Given the description of an element on the screen output the (x, y) to click on. 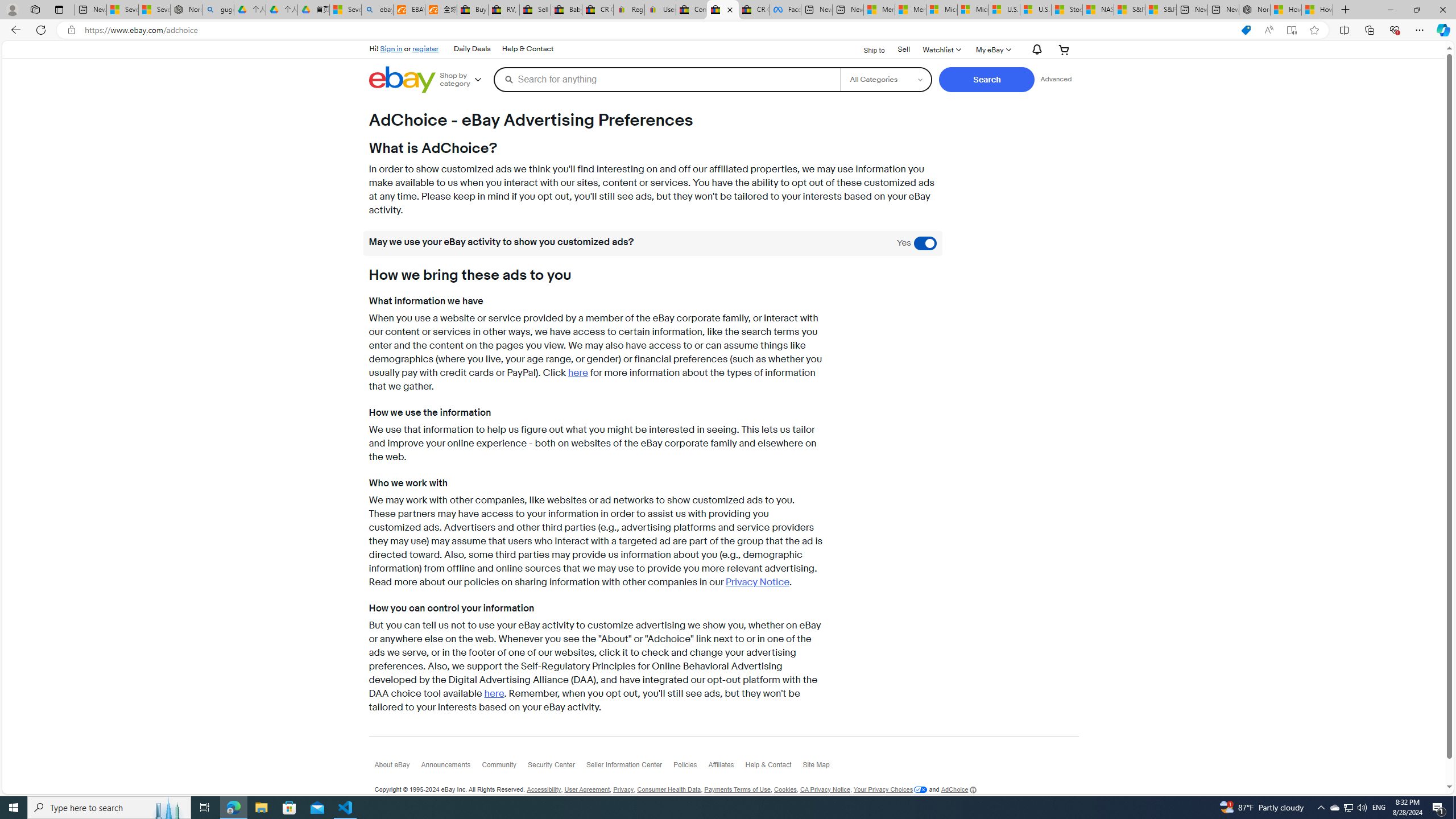
Security Center (556, 767)
Advanced Search (1056, 78)
Affiliates (726, 767)
My eBayExpand My eBay (992, 49)
AdChoice (958, 789)
My eBay (992, 49)
Ship to (866, 48)
Seller Information Center (629, 767)
Site Map (821, 767)
